Given the description of an element on the screen output the (x, y) to click on. 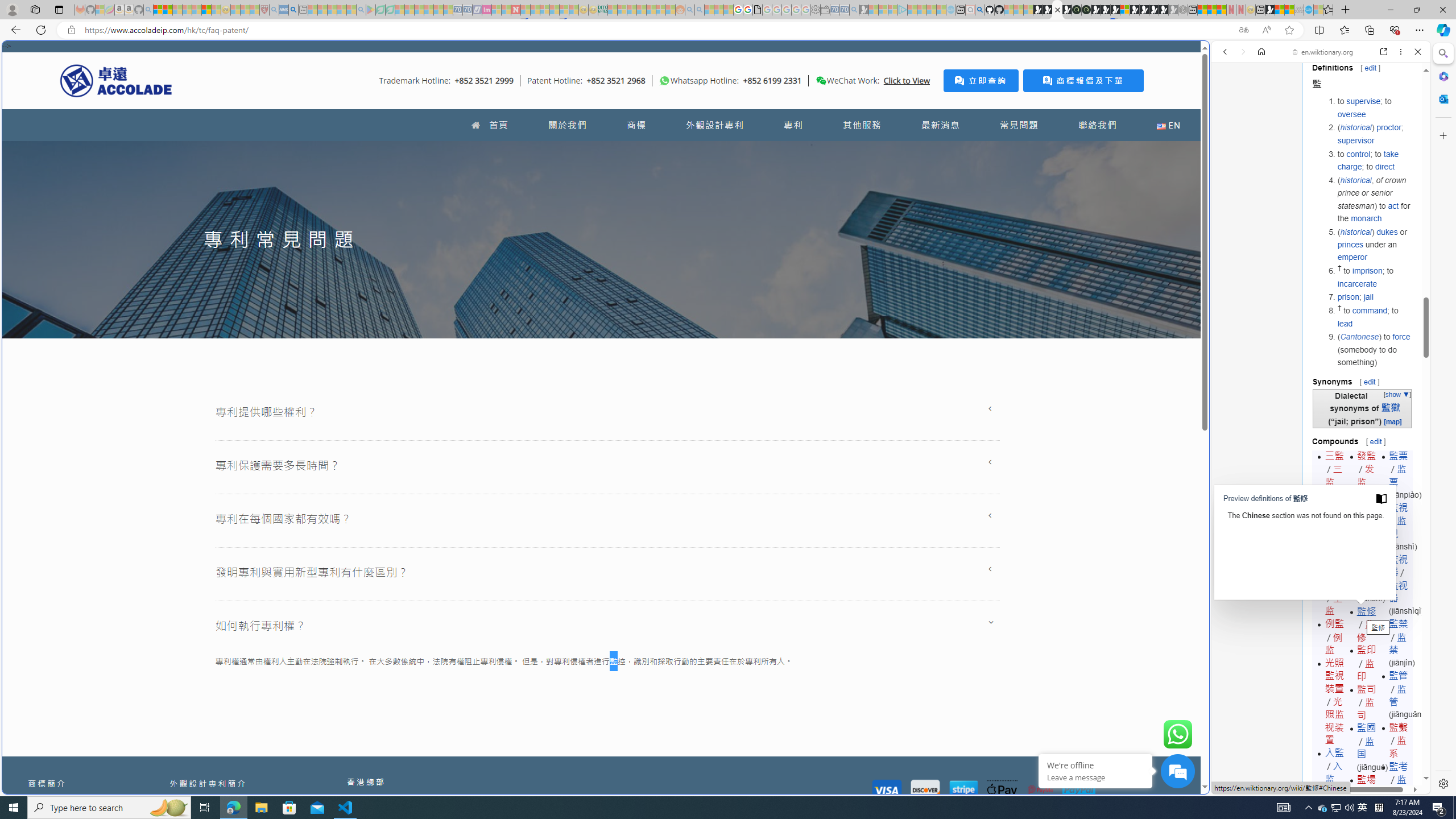
NCL Adult Asthma Inhaler Choice Guideline - Sleeping (283, 9)
dukes (1386, 231)
Trusted Community Engagement and Contributions | Guidelines (525, 9)
supervisor (1355, 139)
Address and search bar (658, 29)
